Given the description of an element on the screen output the (x, y) to click on. 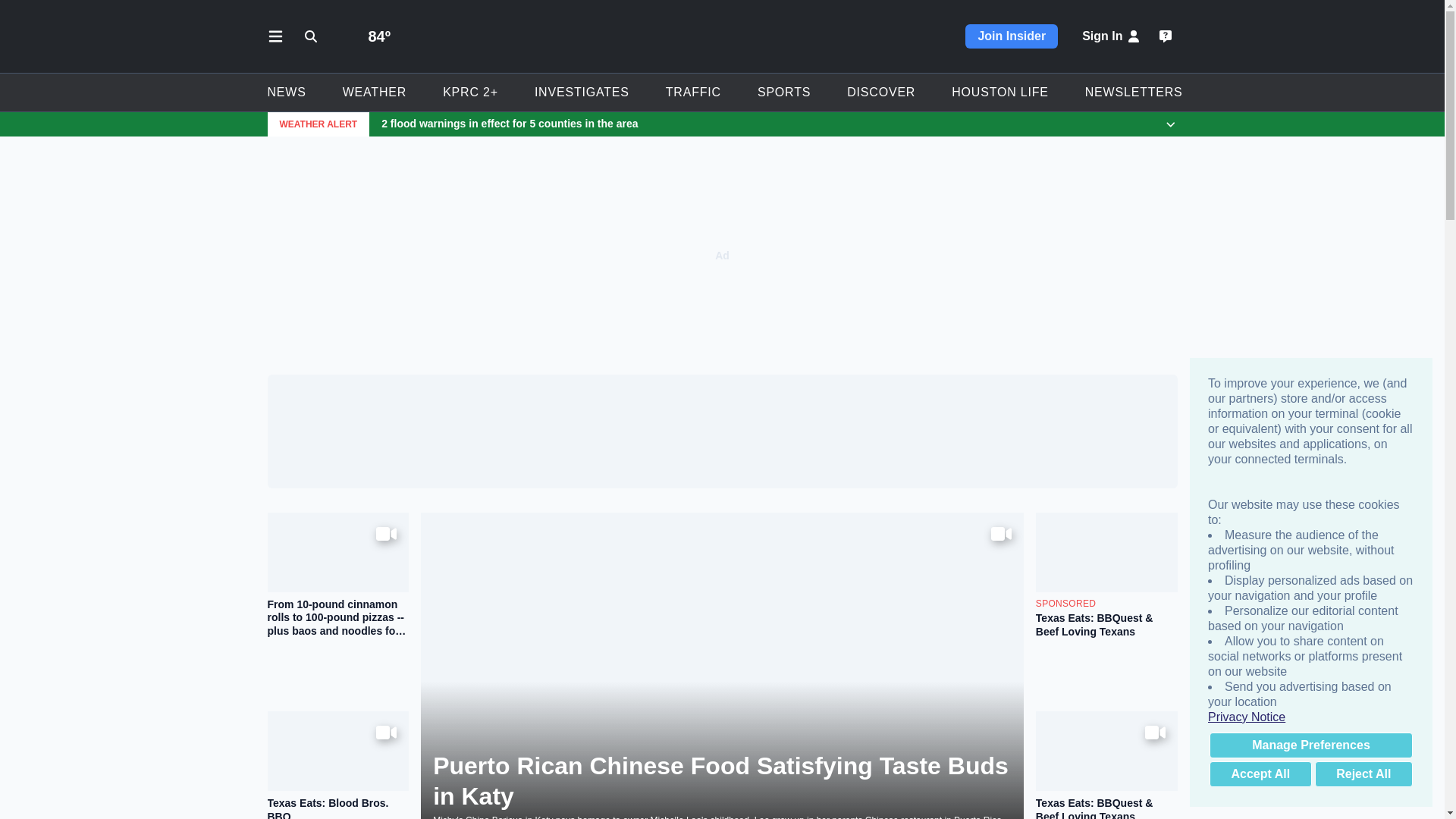
Accept All (1260, 774)
2 flood warnings in effect for 5 counties in the area (760, 124)
Reject All (1363, 774)
Privacy Notice (1310, 717)
Texas Eats: Blood Bros. BBQ (337, 807)
Join Insider (1011, 36)
Manage Preferences (1310, 745)
Sign In (1111, 36)
Puerto Rican Chinese Food Satisfying Taste Buds in Katy (721, 781)
